Given the description of an element on the screen output the (x, y) to click on. 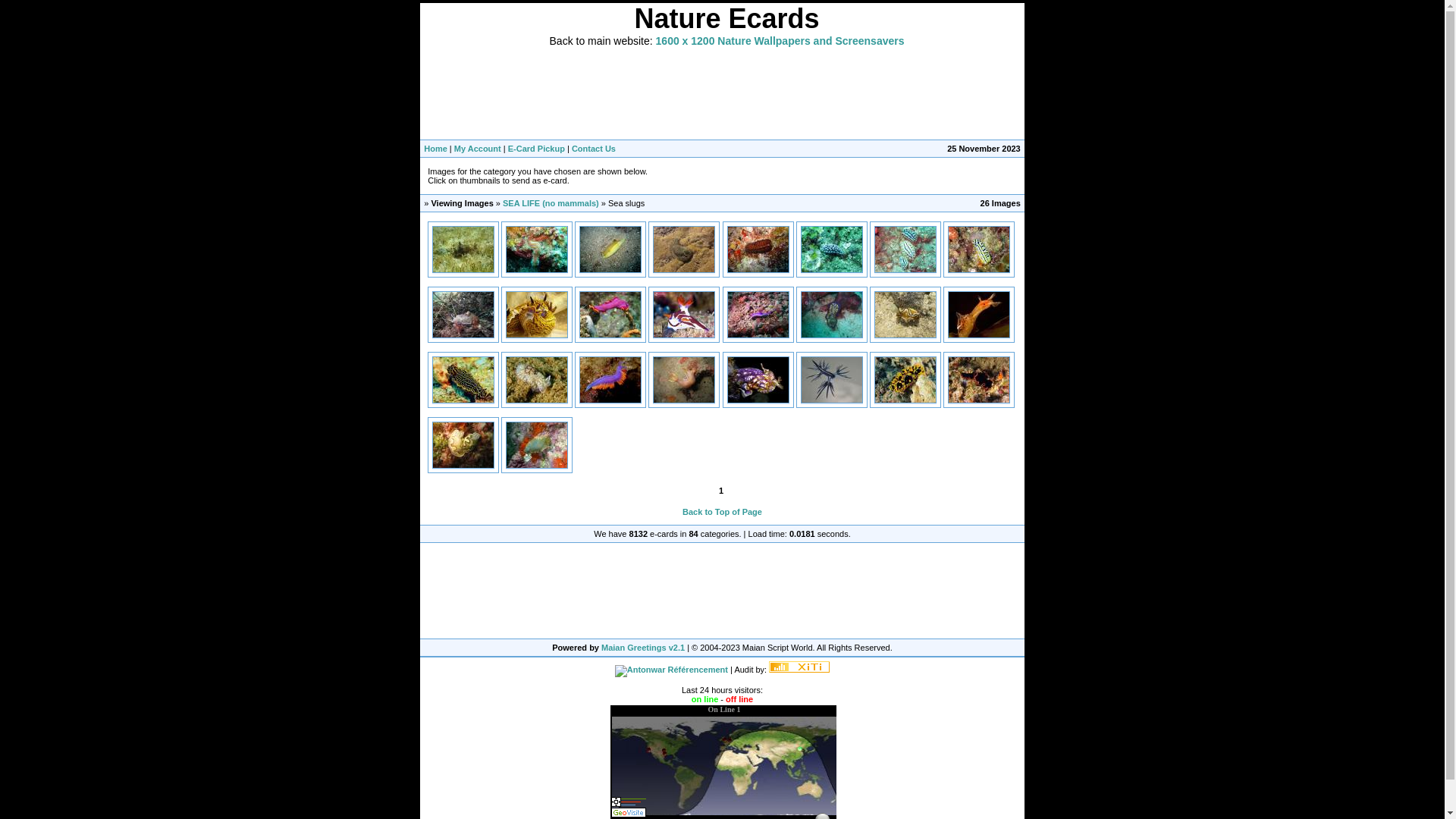
sea-slugs-21  Element type: hover (831, 314)
Send E-Card Element type: hover (683, 399)
sea-slugs-16  Element type: hover (978, 249)
Send E-Card Element type: hover (831, 269)
sea-slugs-11  Element type: hover (610, 249)
Send E-Card Element type: hover (683, 269)
Maian Greetings v2.1 Element type: text (642, 647)
sea-slugs-17  Element type: hover (463, 314)
sea-slugs-1  Element type: hover (463, 249)
Send E-Card Element type: hover (536, 399)
Send E-Card Element type: hover (757, 334)
Internet Audience Element type: hover (798, 666)
sea-slugs-10  Element type: hover (536, 249)
Advertisement Element type: hover (726, 93)
sea-slugs-26  Element type: hover (610, 379)
Send E-Card Element type: hover (463, 269)
Send E-Card Element type: hover (831, 334)
Contact Us Element type: text (593, 148)
Back to Top of Page Element type: text (722, 511)
Home Element type: text (435, 148)
sea-slugs-3  Element type: hover (683, 379)
sea-slugs-8  Element type: hover (463, 444)
Send E-Card Element type: hover (536, 465)
WebAnalytics Element type: hover (798, 669)
sea-slugs-19  Element type: hover (610, 314)
sea-slugs-24  Element type: hover (463, 379)
Send E-Card Element type: hover (536, 334)
E-Card Pickup Element type: text (536, 148)
sea-slugs-18  Element type: hover (536, 314)
Advertisement Element type: hover (721, 590)
sea-slugs-13  Element type: hover (757, 249)
sea-slugs-6  Element type: hover (905, 379)
sea-slugs-5  Element type: hover (831, 379)
Send E-Card Element type: hover (683, 334)
Send E-Card Element type: hover (757, 399)
sea-slugs-12  Element type: hover (683, 249)
sea-slugs-7  Element type: hover (978, 379)
Send E-Card Element type: hover (978, 399)
sea-slugs-9  Element type: hover (536, 444)
Send E-Card Element type: hover (905, 334)
Send E-Card Element type: hover (757, 269)
sea-slugs-23  Element type: hover (978, 314)
sea-slugs-15  Element type: hover (905, 249)
sea-slugs-14  Element type: hover (831, 249)
sea-slugs-25  Element type: hover (536, 379)
Send E-Card Element type: hover (463, 465)
Send E-Card Element type: hover (463, 334)
Send E-Card Element type: hover (905, 399)
Send E-Card Element type: hover (831, 399)
SEA LIFE (no mammals) Element type: text (550, 202)
sea-slugs-2  Element type: hover (683, 314)
1600 x 1200 Nature Wallpapers and Screensavers Element type: text (779, 41)
sea-slugs-4  Element type: hover (757, 379)
sea-slugs-22  Element type: hover (905, 314)
My Account Element type: text (477, 148)
Send E-Card Element type: hover (978, 269)
Send E-Card Element type: hover (610, 269)
Send E-Card Element type: hover (610, 334)
Send E-Card Element type: hover (463, 399)
Send E-Card Element type: hover (610, 399)
Send E-Card Element type: hover (536, 269)
Send E-Card Element type: hover (905, 269)
Send E-Card Element type: hover (978, 334)
sea-slugs-20  Element type: hover (757, 314)
